Given the description of an element on the screen output the (x, y) to click on. 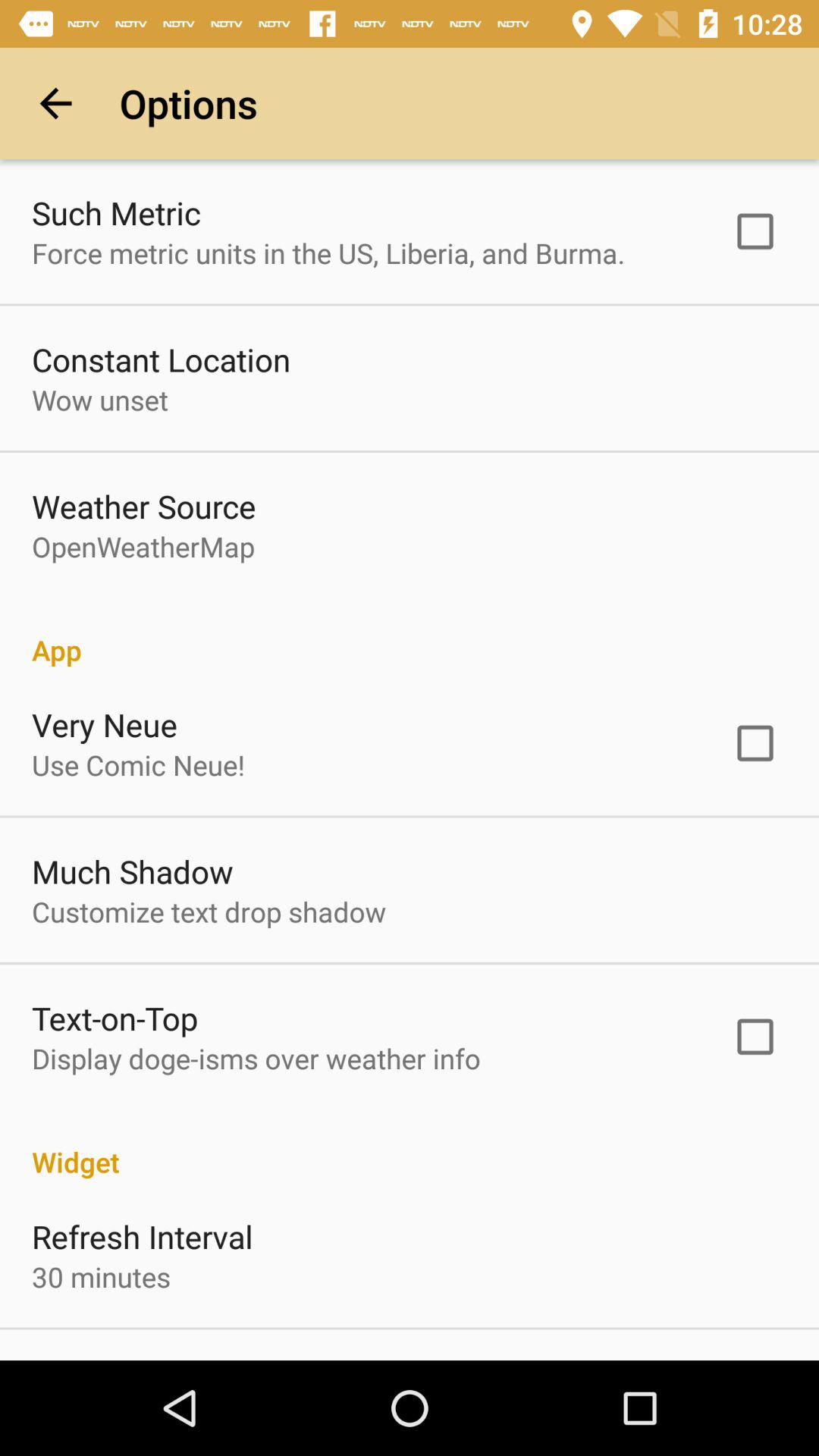
flip until widget (409, 1145)
